Given the description of an element on the screen output the (x, y) to click on. 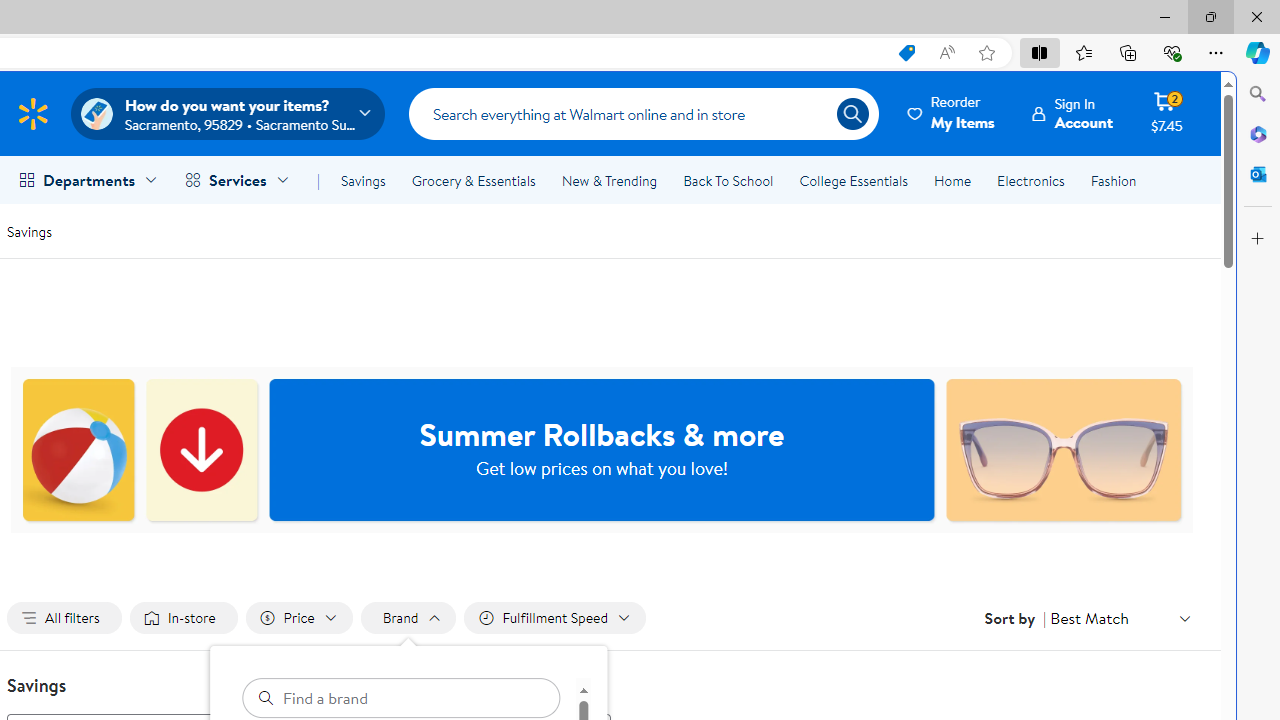
College Essentials (852, 180)
New & Trending (608, 180)
This site has coupons! Shopping in Microsoft Edge, 7 (906, 53)
Filter by Fulfillment Speed not applied, activate to change (554, 618)
Sign In Account (1072, 113)
Reorder My Items (952, 113)
Cart contains 2 items Total Amount $7.45 (1166, 113)
Summer Rollbacks & more Get low prices on what you love! (601, 449)
